Given the description of an element on the screen output the (x, y) to click on. 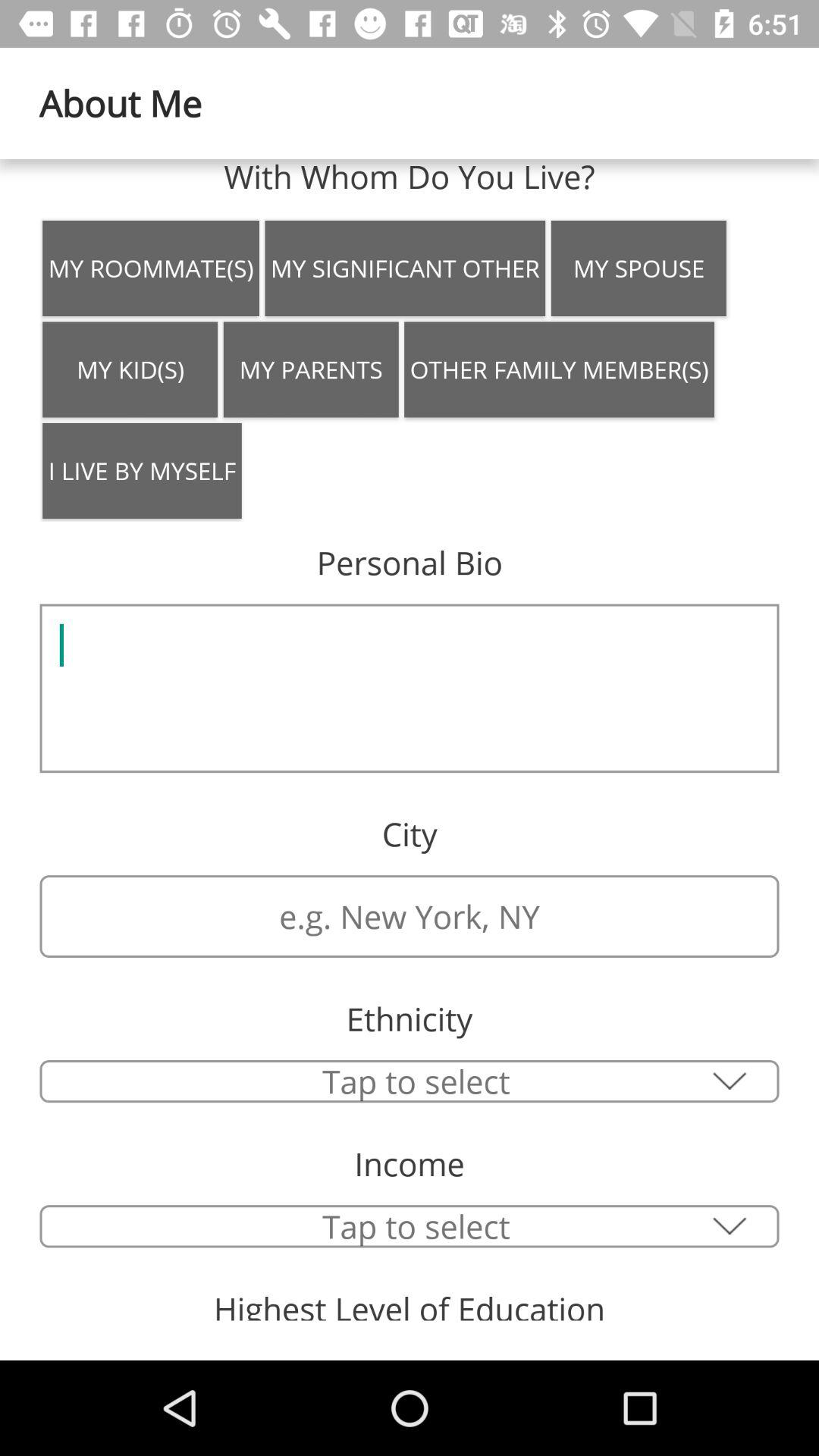
tap the icon to the left of my spouse item (405, 268)
